Given the description of an element on the screen output the (x, y) to click on. 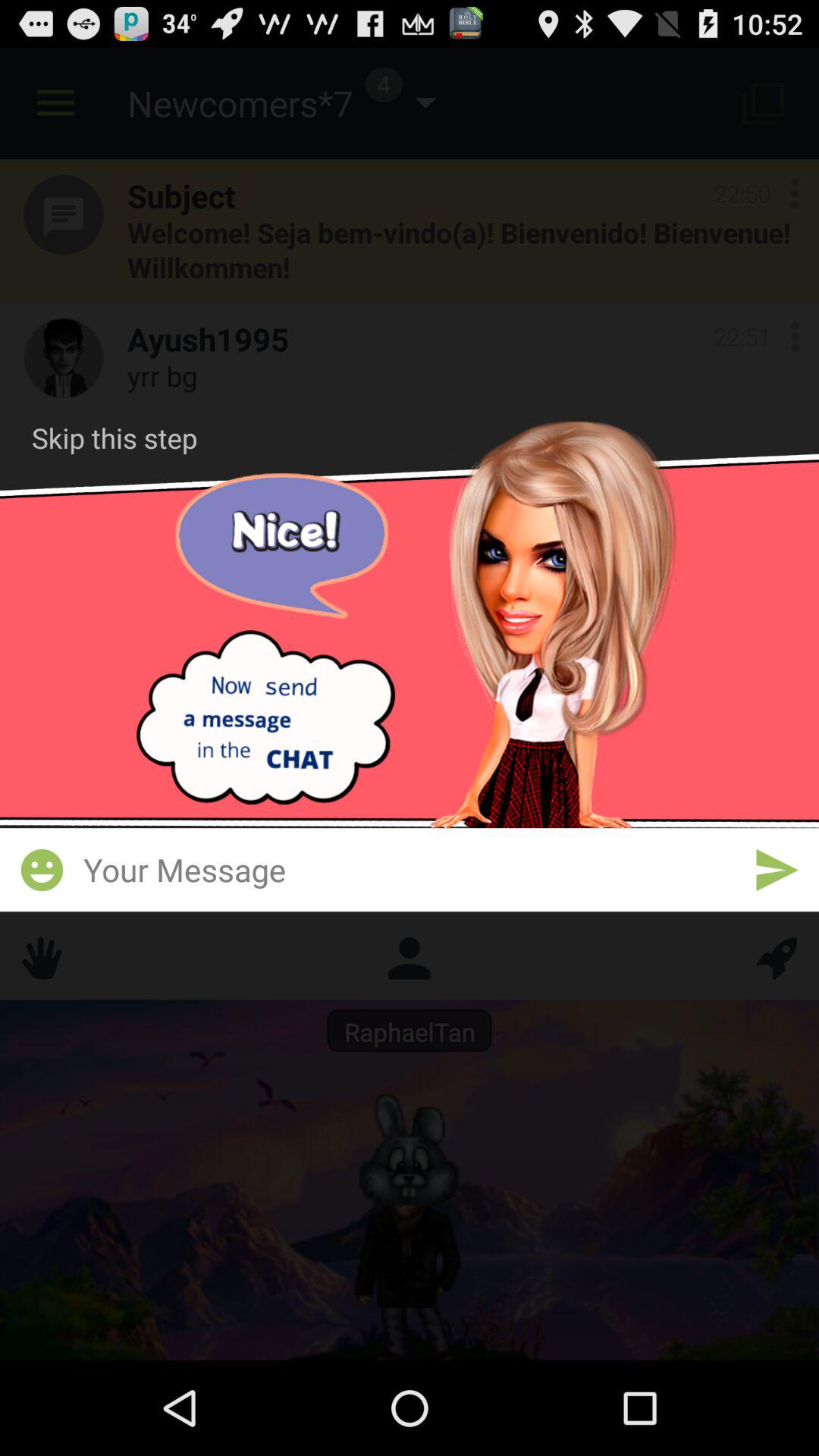
type your chat message in this box (409, 869)
